Given the description of an element on the screen output the (x, y) to click on. 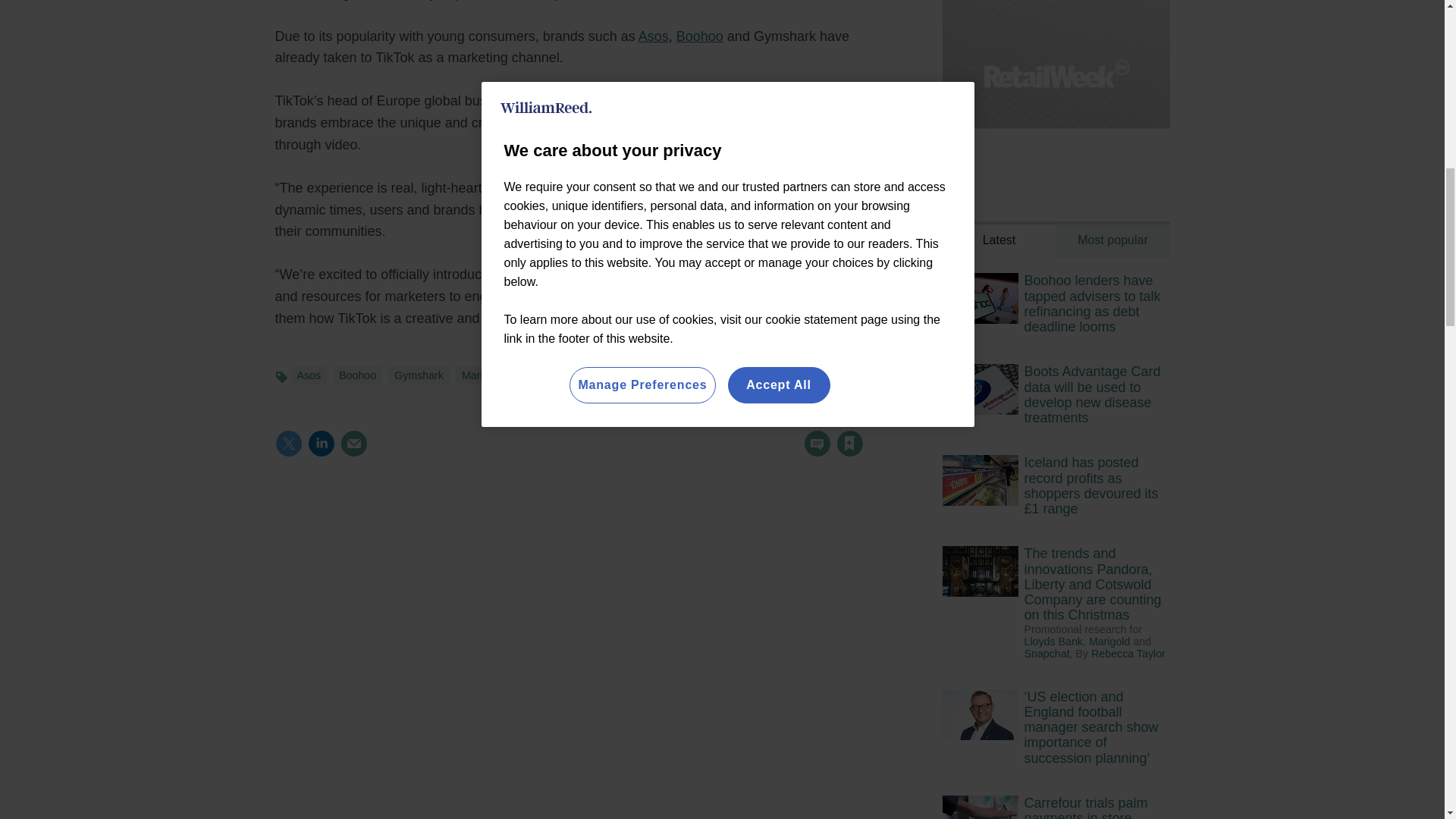
Email this article (352, 443)
Share this on Twitter (288, 443)
Share this on Linked in (320, 443)
No comments (812, 452)
3rd party ad content (1055, 74)
